Given the description of an element on the screen output the (x, y) to click on. 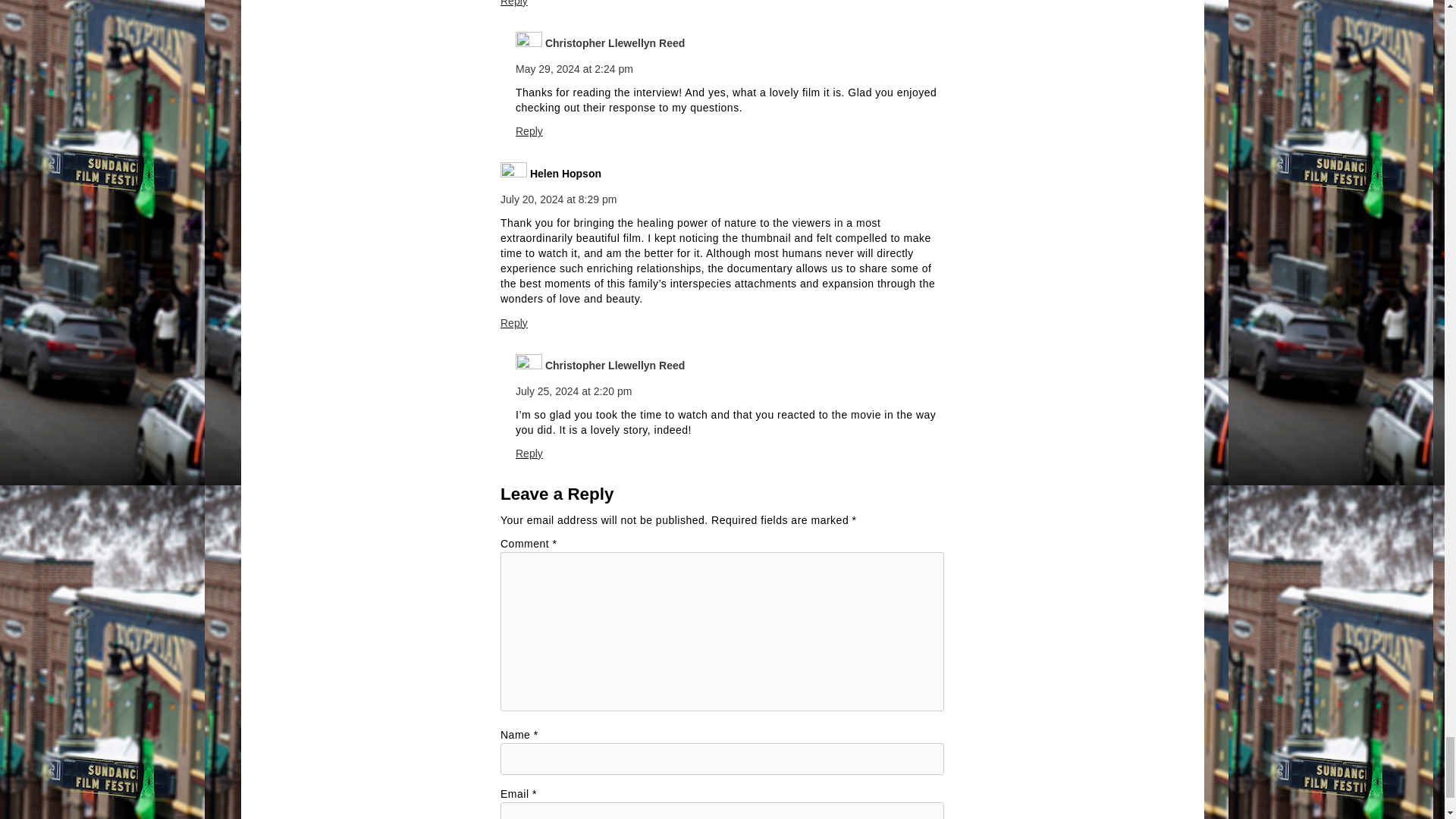
July 25, 2024 at 2:20 pm (573, 390)
Reply (529, 131)
July 20, 2024 at 8:29 pm (557, 199)
Christopher Llewellyn Reed (614, 365)
May 29, 2024 at 2:24 pm (574, 69)
Reply (513, 322)
Christopher Llewellyn Reed (614, 42)
Reply (513, 3)
Reply (529, 453)
